Given the description of an element on the screen output the (x, y) to click on. 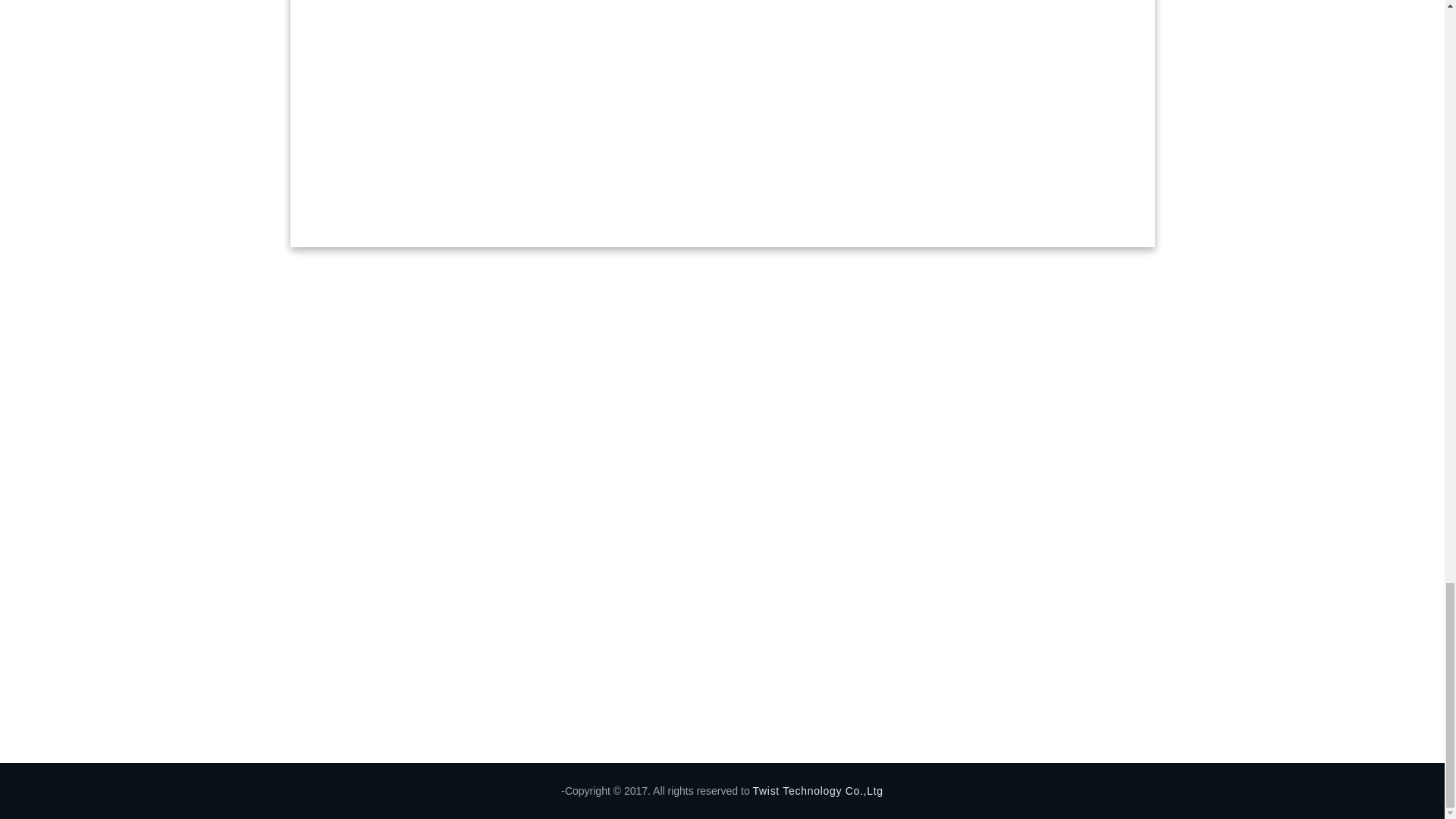
Twist Technology Co.,Ltg (817, 790)
